Given the description of an element on the screen output the (x, y) to click on. 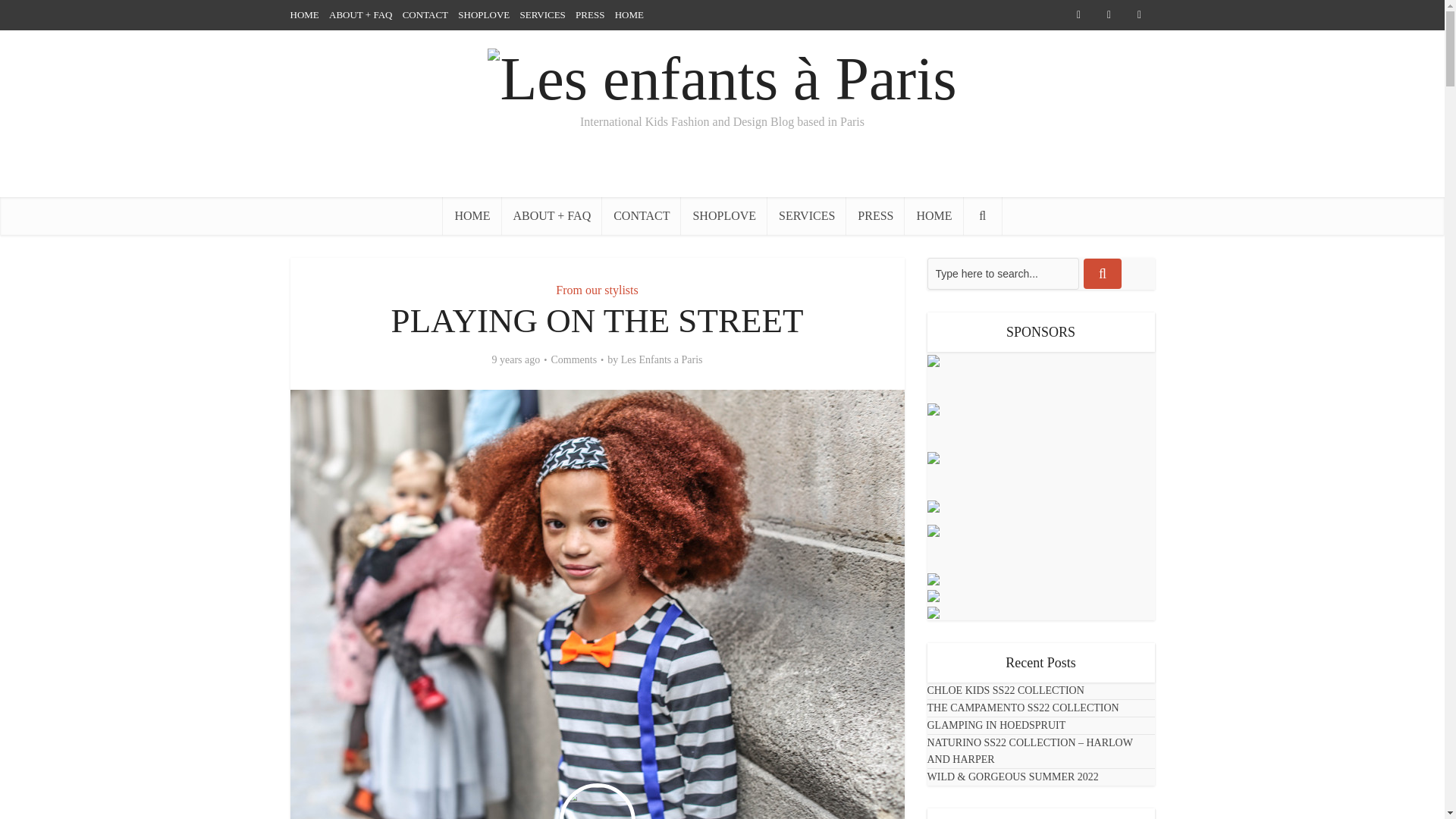
HOME (303, 14)
HOME (628, 14)
SERVICES (541, 14)
CONTACT (641, 216)
Les Enfants a Paris (662, 359)
CONTACT (425, 14)
From our stylists (596, 289)
HOME (471, 216)
SHOPLOVE (724, 216)
Type here to search... (1002, 273)
PRESS (589, 14)
HOME (933, 216)
SERVICES (806, 216)
Comments (573, 359)
SHOPLOVE (483, 14)
